Given the description of an element on the screen output the (x, y) to click on. 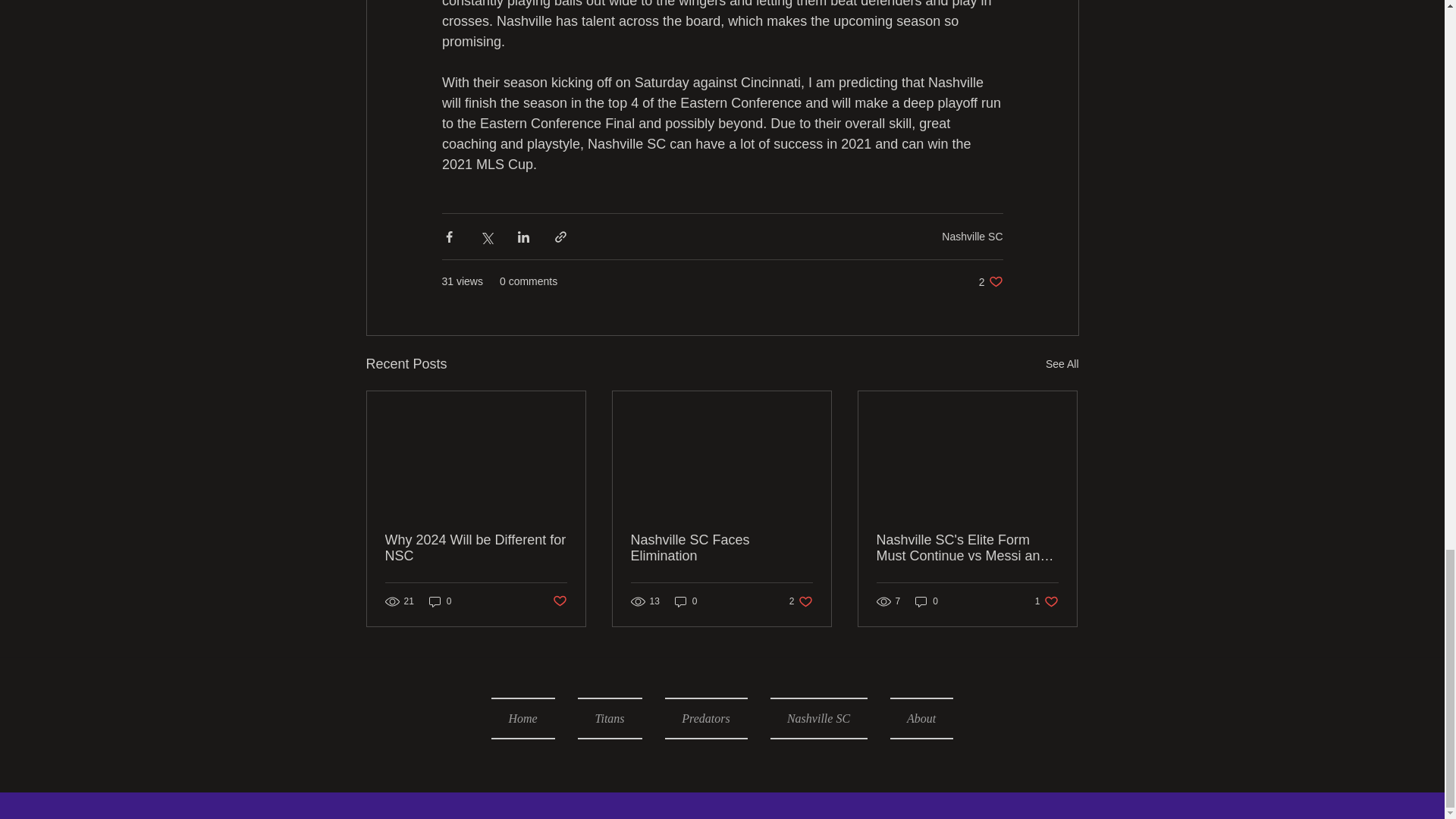
Home (529, 718)
Nashville SC's Elite Form Must Continue vs Messi and Miami (967, 548)
Titans (609, 718)
Why 2024 Will be Different for NSC (476, 548)
Nashville SC (972, 236)
Predators (705, 718)
See All (800, 601)
0 (1061, 363)
Nashville SC Faces Elimination (440, 601)
0 (721, 548)
0 (1046, 601)
Post not marked as liked (685, 601)
